Given the description of an element on the screen output the (x, y) to click on. 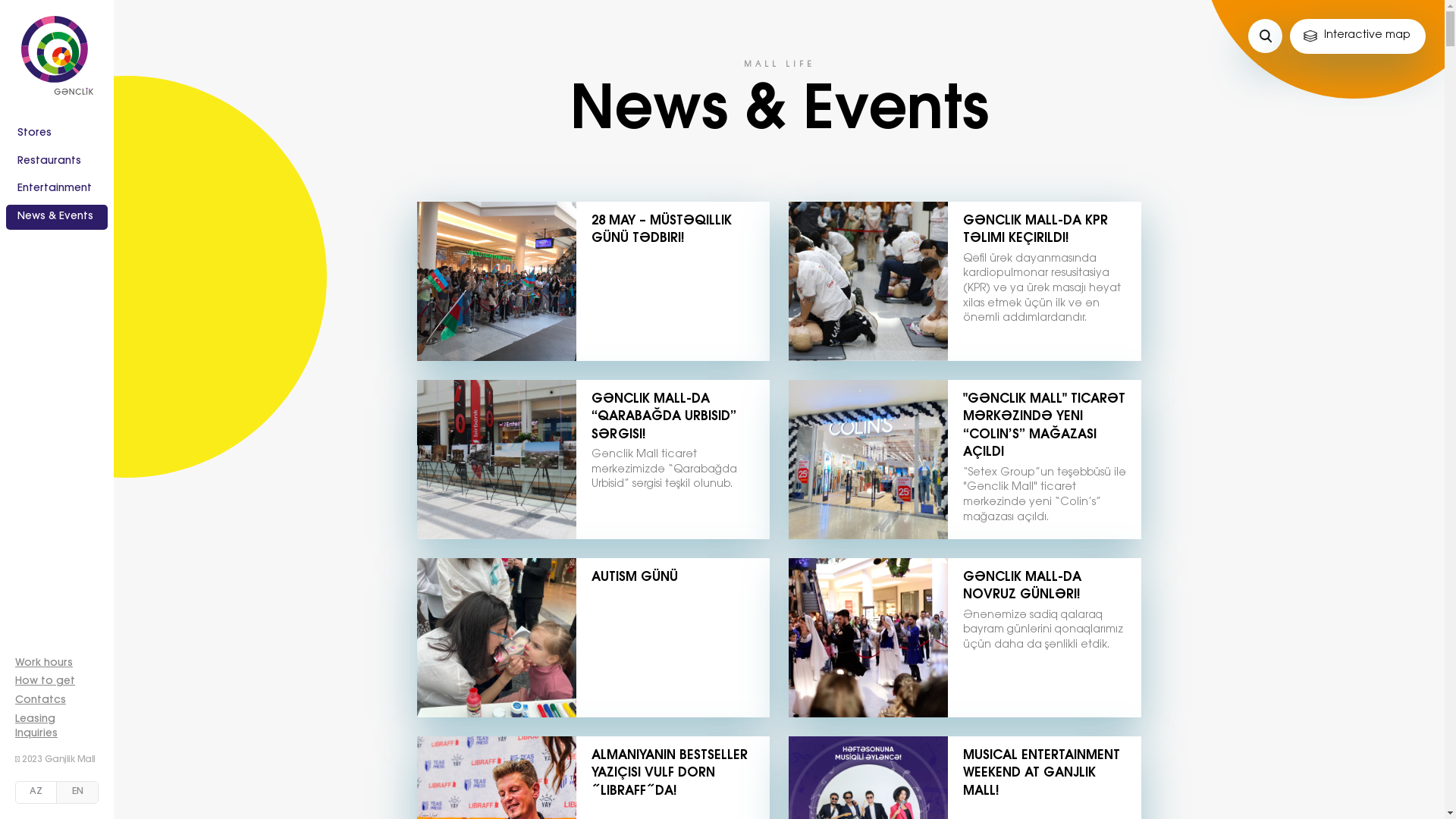
Contatcs Element type: text (40, 700)
News & Events Element type: text (56, 217)
Leasing Inquiries Element type: text (36, 727)
EN Element type: text (76, 792)
Interactive map Element type: text (1357, 35)
Entertainment Element type: text (56, 189)
Restaurants Element type: text (56, 162)
Stores Element type: text (56, 134)
Work hours Element type: text (43, 663)
AZ Element type: text (35, 792)
How to get Element type: text (45, 681)
